Given the description of an element on the screen output the (x, y) to click on. 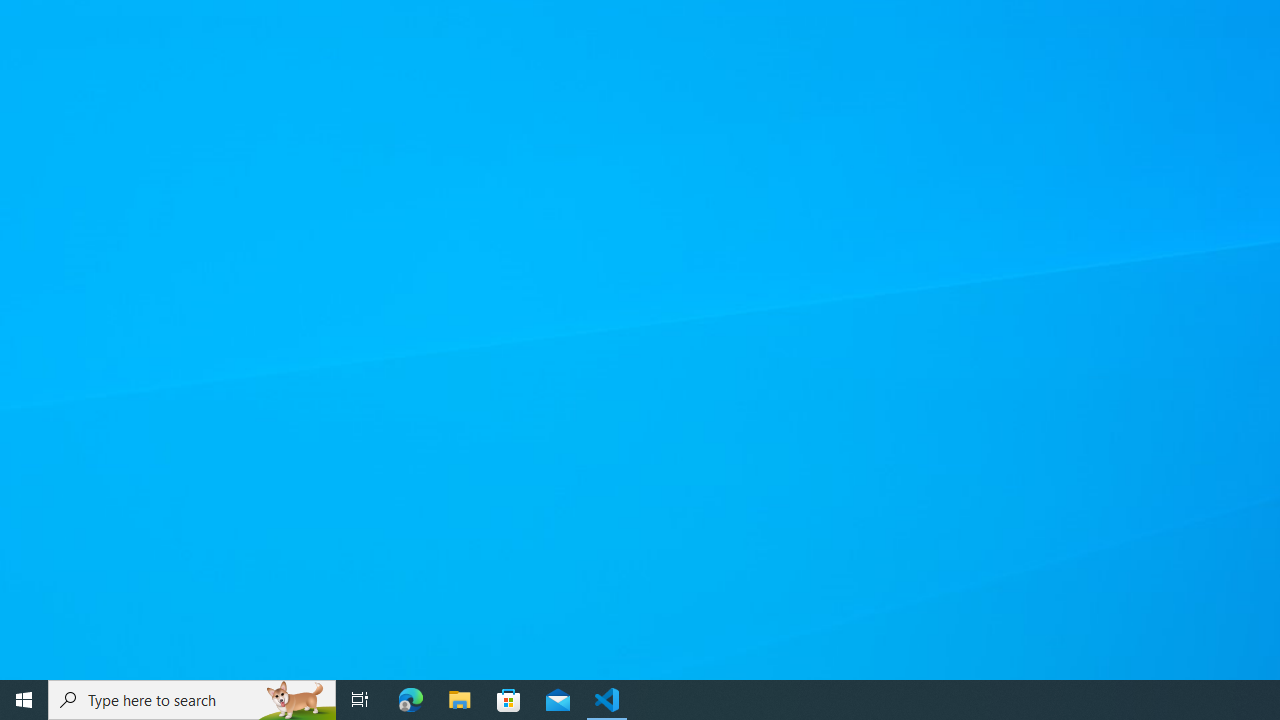
Start (24, 699)
Type here to search (191, 699)
Search highlights icon opens search home window (295, 699)
Microsoft Store (509, 699)
Visual Studio Code - 1 running window (607, 699)
Task View (359, 699)
File Explorer (460, 699)
Microsoft Edge (411, 699)
